Given the description of an element on the screen output the (x, y) to click on. 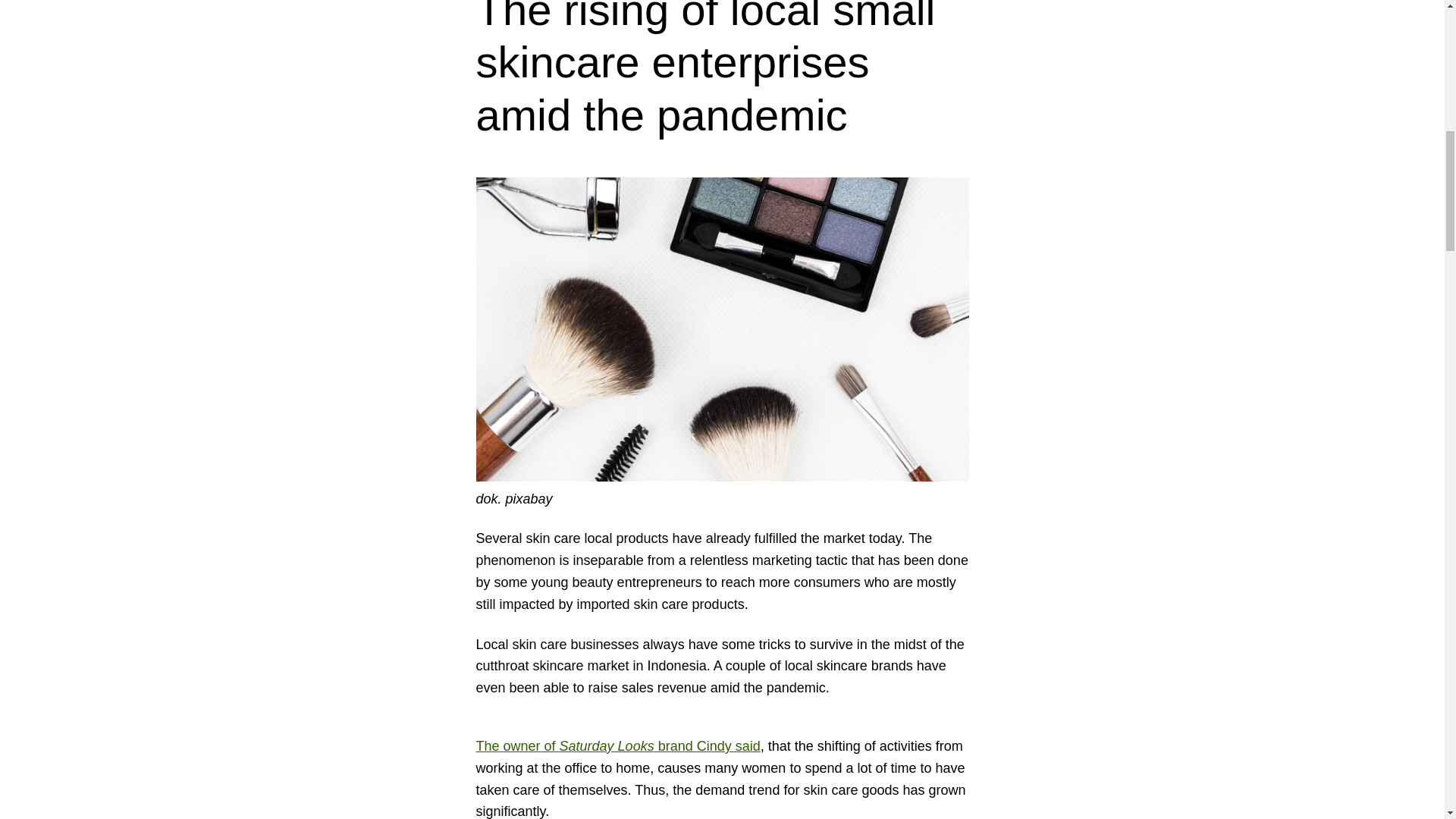
The owner of Saturday Looks brand Cindy said (618, 745)
